Given the description of an element on the screen output the (x, y) to click on. 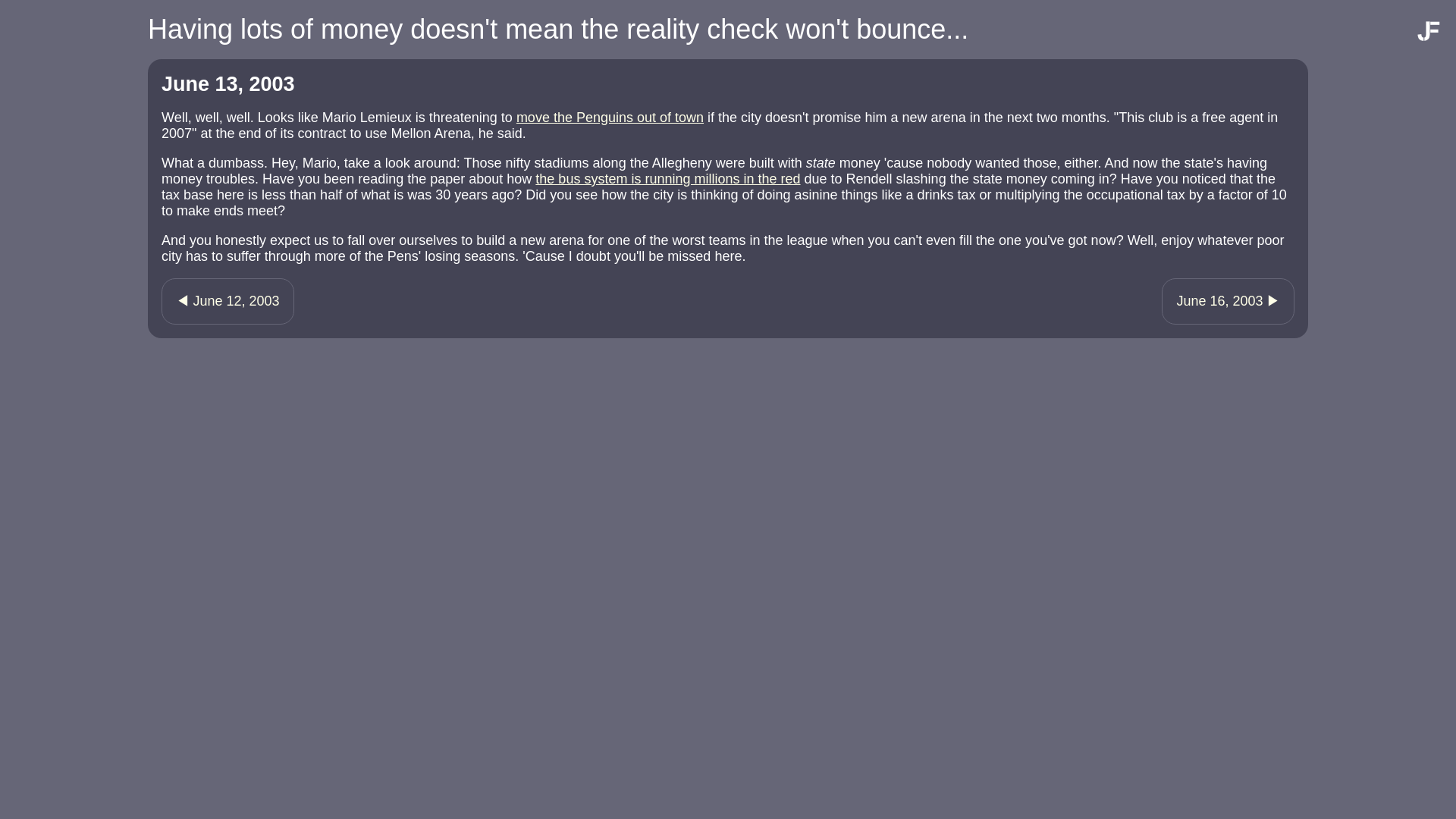
move the Penguins out of town (609, 117)
the bus system is running millions in the red (667, 178)
